Given the description of an element on the screen output the (x, y) to click on. 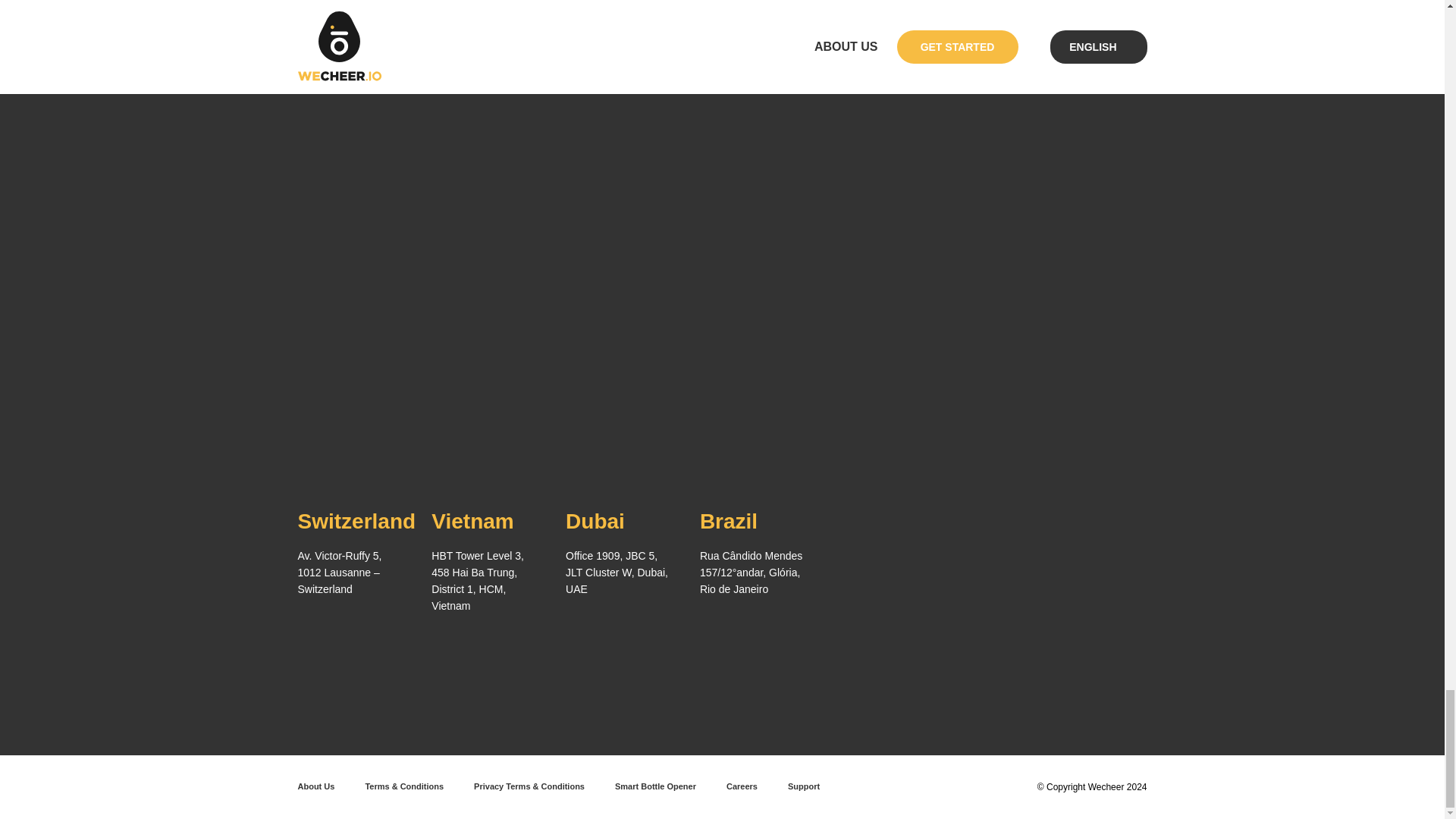
Smart Bottle Opener (655, 785)
About Us (315, 785)
Careers (742, 785)
Support (803, 785)
